Given the description of an element on the screen output the (x, y) to click on. 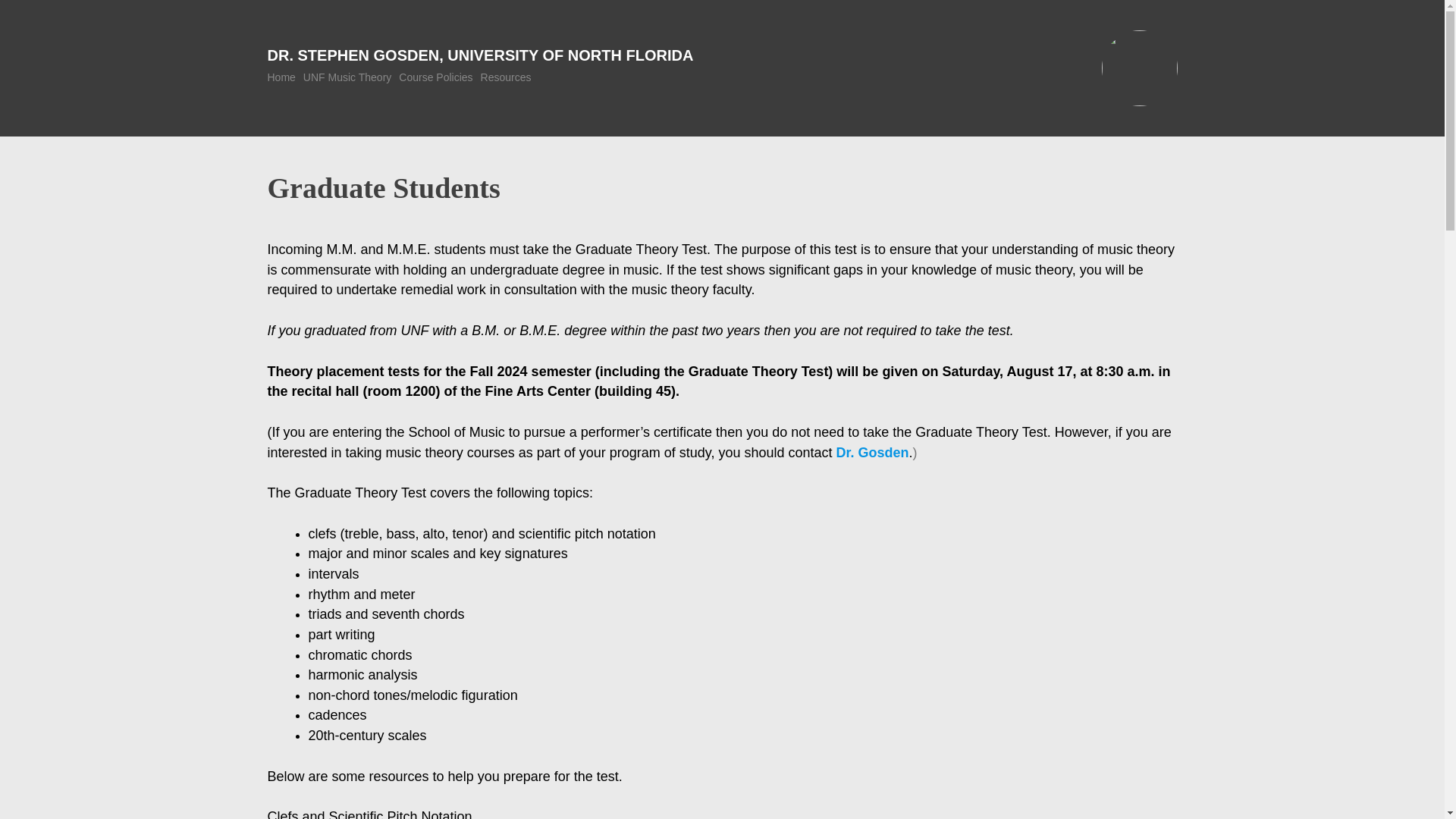
Course Policies (434, 77)
Dr. Gosden (871, 452)
Resources (505, 77)
Home (280, 77)
UNF Music Theory (346, 77)
Dr. Stephen Gosden, University of North Florida (479, 54)
DR. STEPHEN GOSDEN, UNIVERSITY OF NORTH FLORIDA (479, 54)
